Given the description of an element on the screen output the (x, y) to click on. 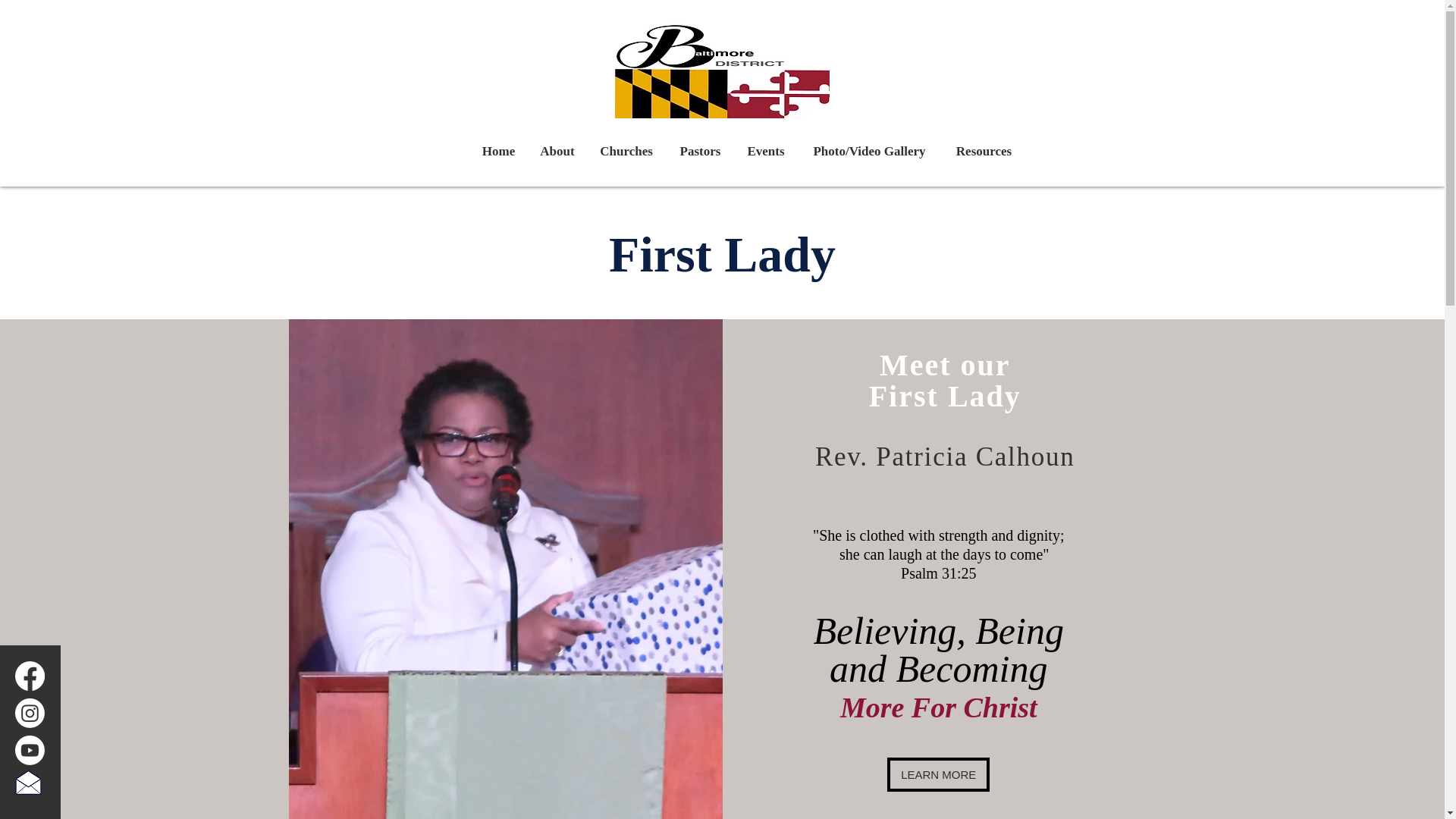
LEARN MORE (938, 774)
Home (497, 151)
The Baltimore  (417, 45)
District (491, 45)
